Given the description of an element on the screen output the (x, y) to click on. 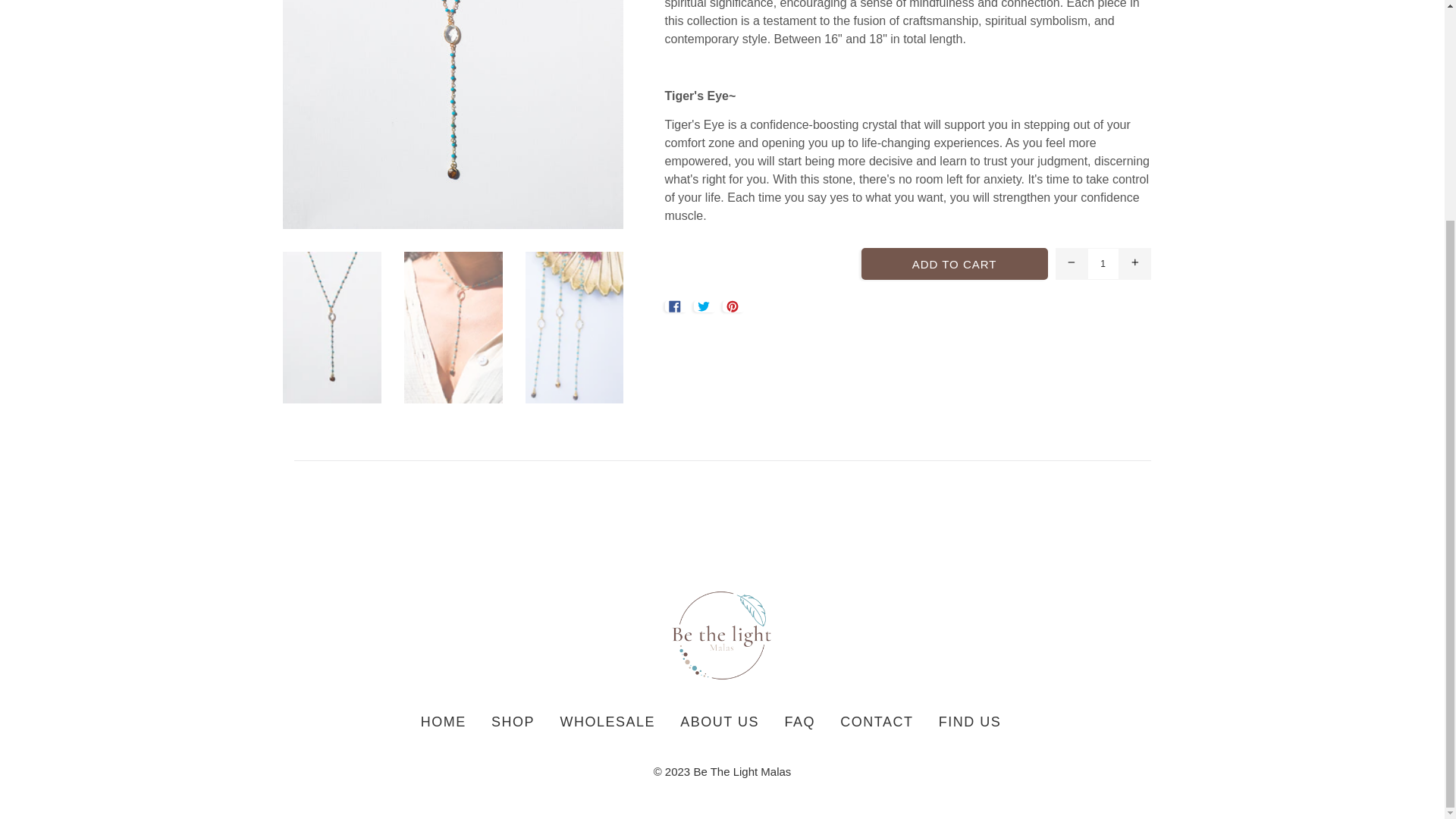
Tweet on Twitter (705, 306)
1 (1103, 264)
Pin on Pinterest (733, 306)
Share on Facebook (675, 306)
